Given the description of an element on the screen output the (x, y) to click on. 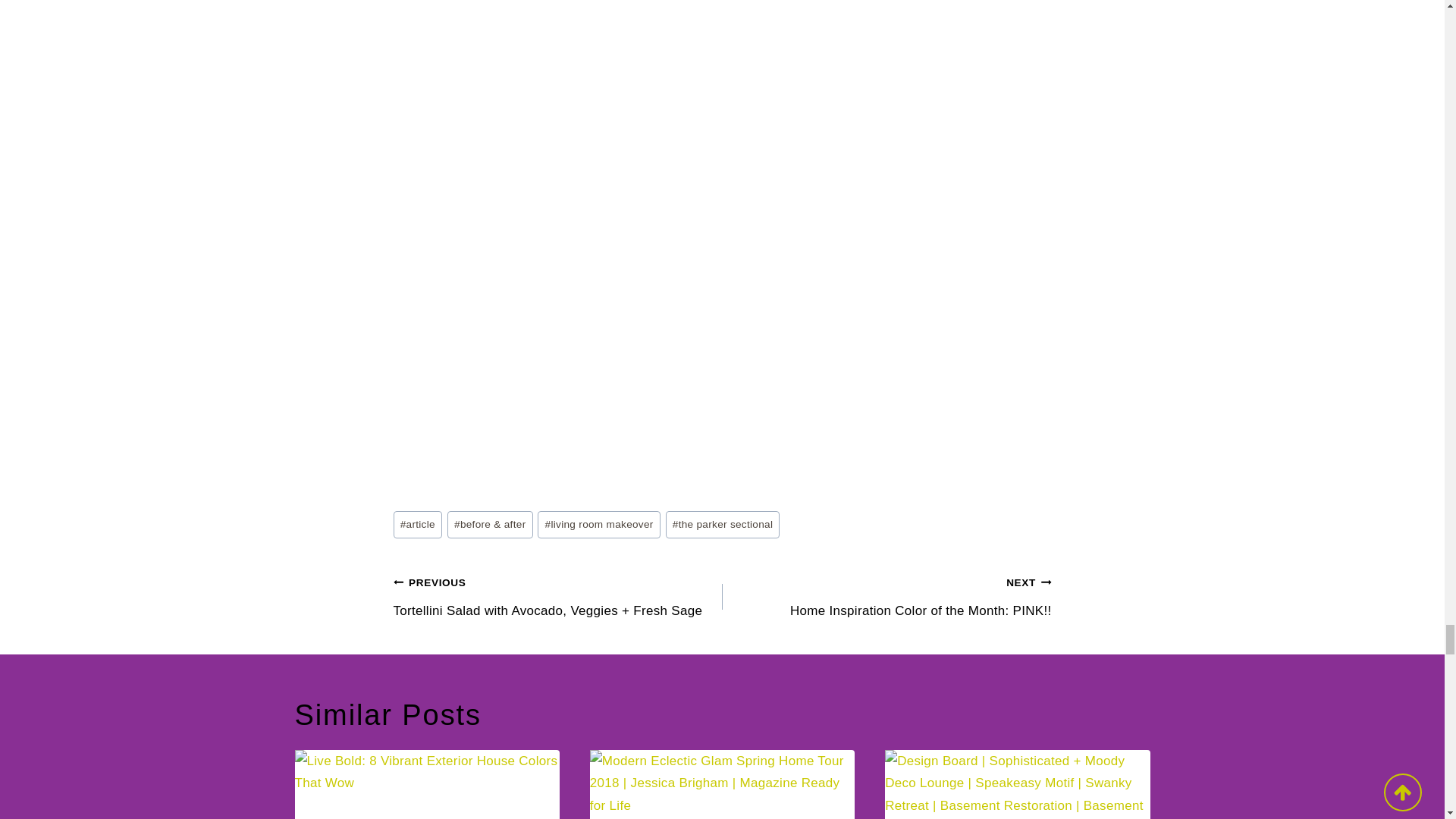
the parker sectional (722, 524)
living room makeover (598, 524)
article (417, 524)
